Given the description of an element on the screen output the (x, y) to click on. 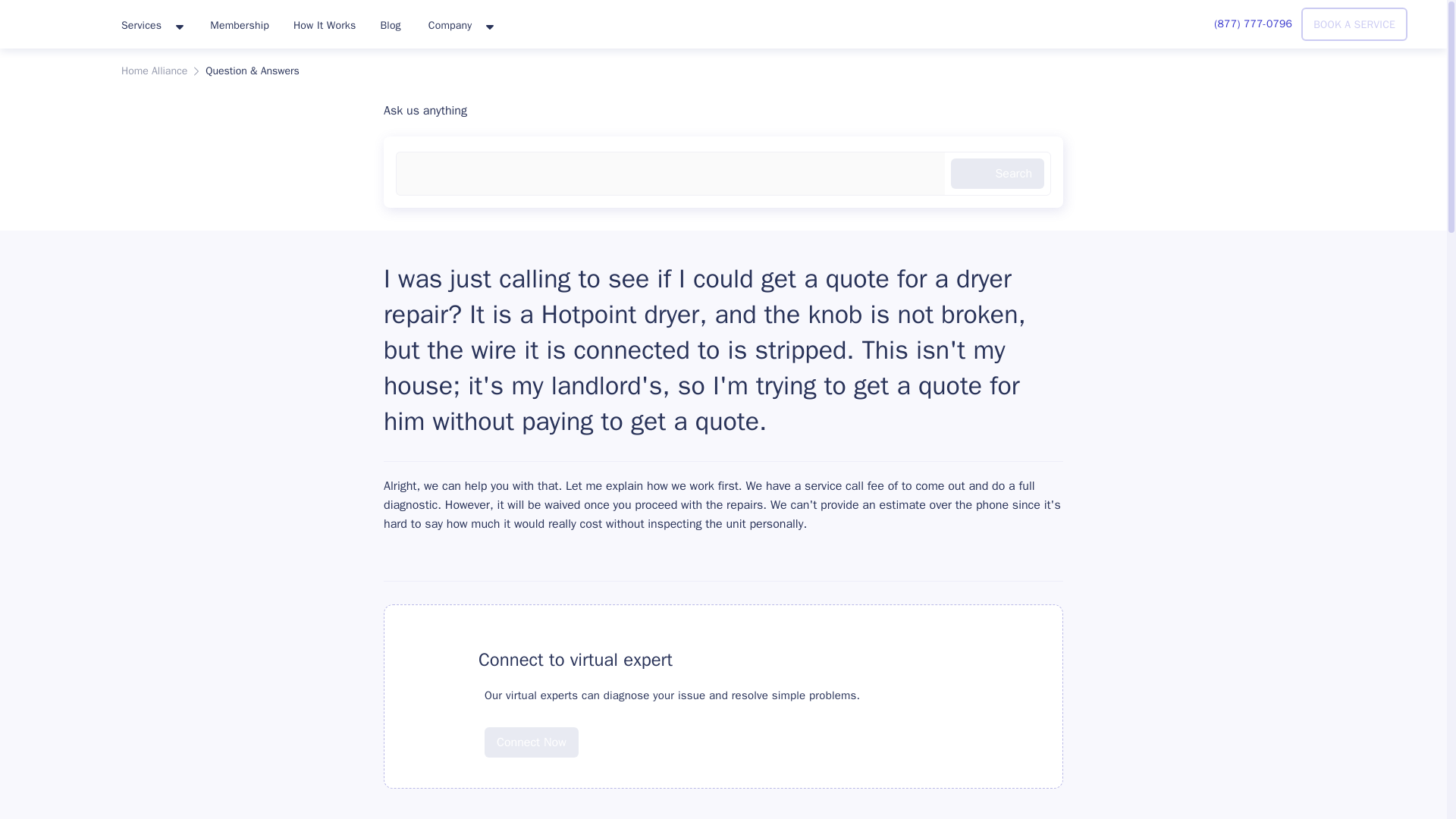
Services (151, 25)
Membership (239, 24)
Company (460, 25)
How It Works (324, 24)
Search (996, 173)
BOOK A SERVICE (1354, 23)
Connect Now (531, 742)
Home Alliance (153, 70)
HomeAlliance (55, 20)
FAQ (438, 659)
